Given the description of an element on the screen output the (x, y) to click on. 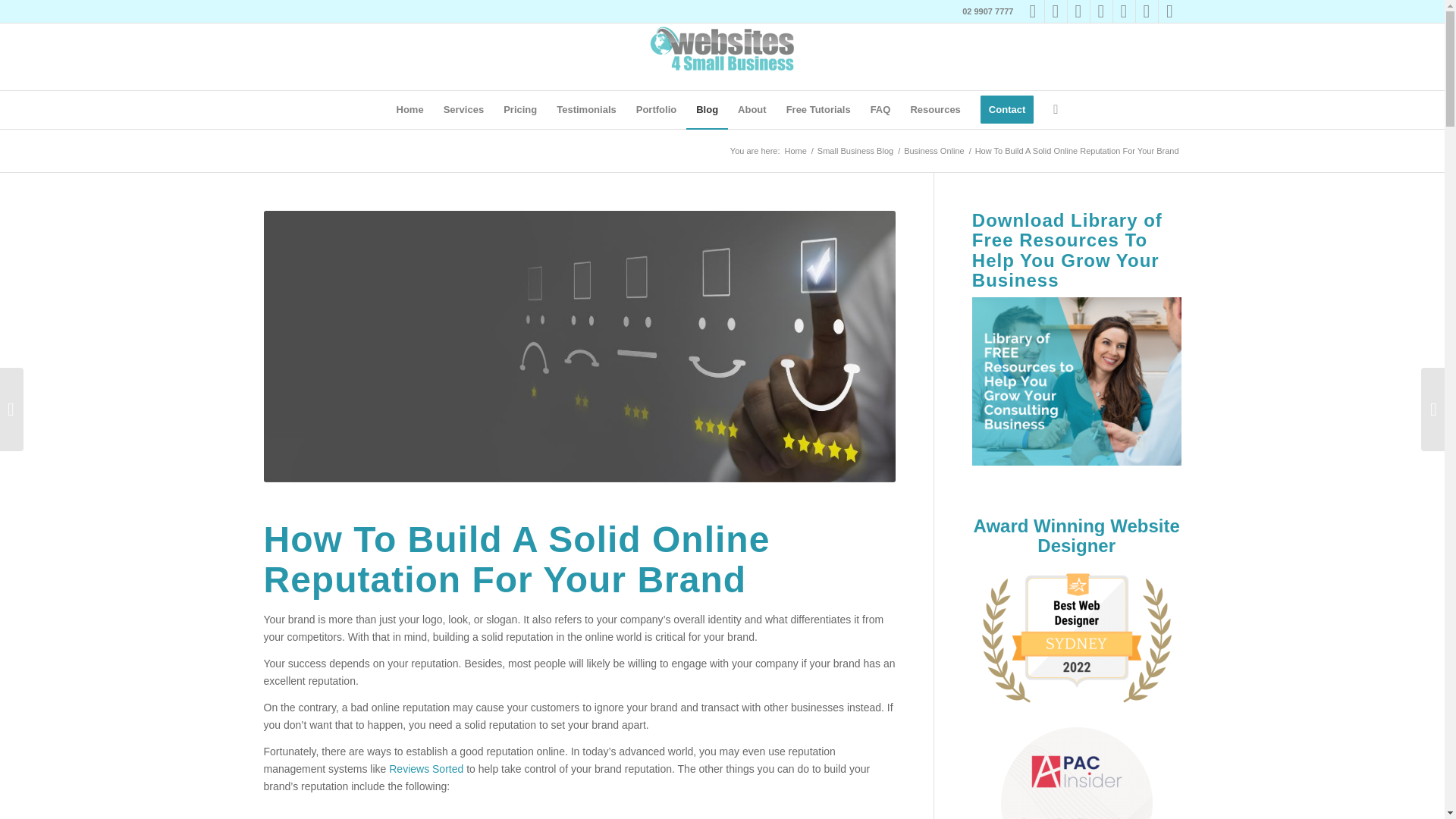
About (752, 109)
Mail (1124, 11)
Twitter (1146, 11)
Facebook (1032, 11)
Home (410, 109)
Services (464, 109)
Pricing (520, 109)
Portfolio (655, 109)
Testimonials (586, 109)
Rss (1169, 11)
